Given the description of an element on the screen output the (x, y) to click on. 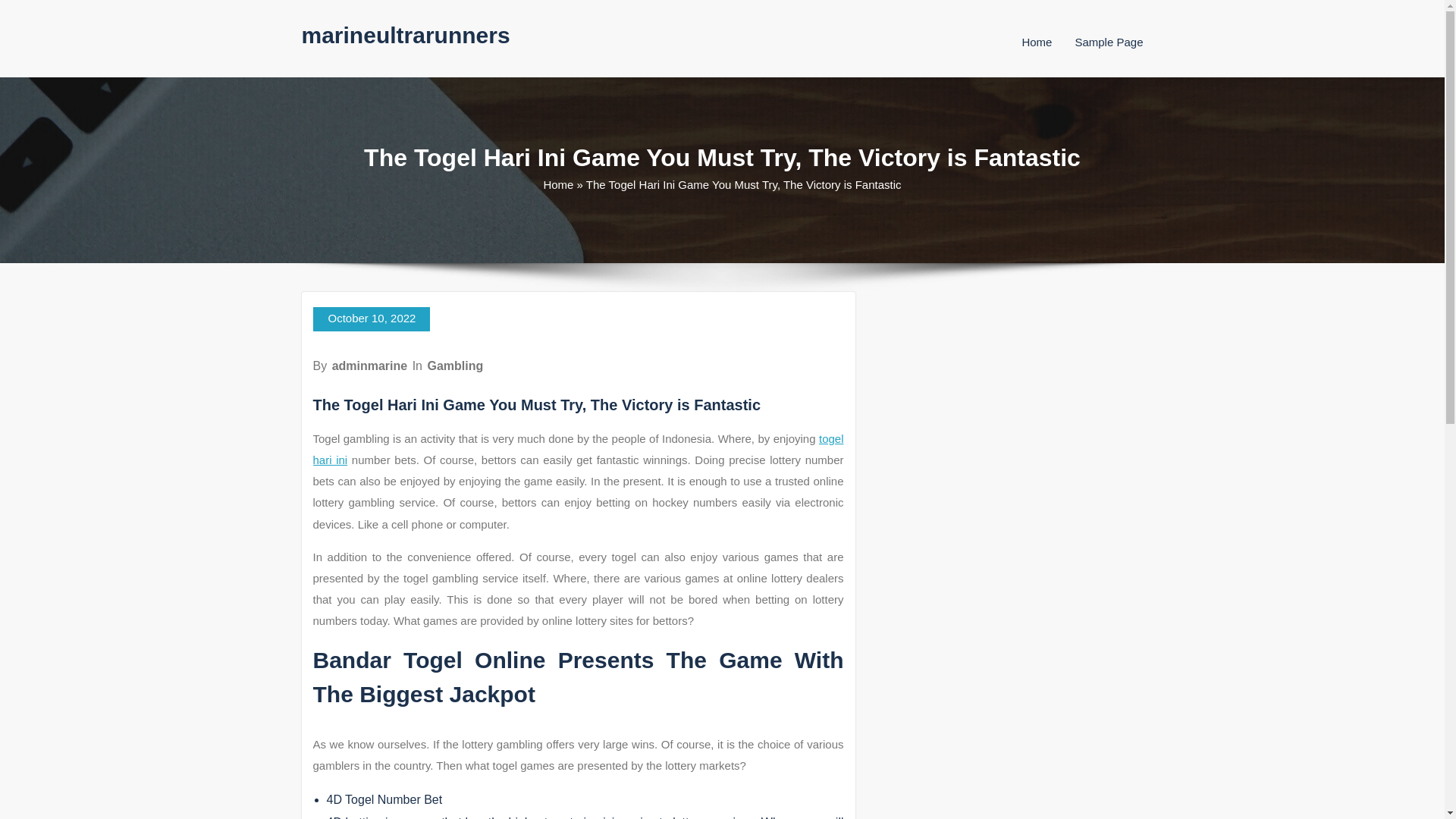
Home (1036, 41)
Gambling (454, 365)
Home (1036, 41)
Sample Page (1108, 41)
Home (558, 184)
marineultrarunners (406, 34)
togel hari ini (578, 449)
October 10, 2022 (371, 319)
adminmarine (369, 365)
